Given the description of an element on the screen output the (x, y) to click on. 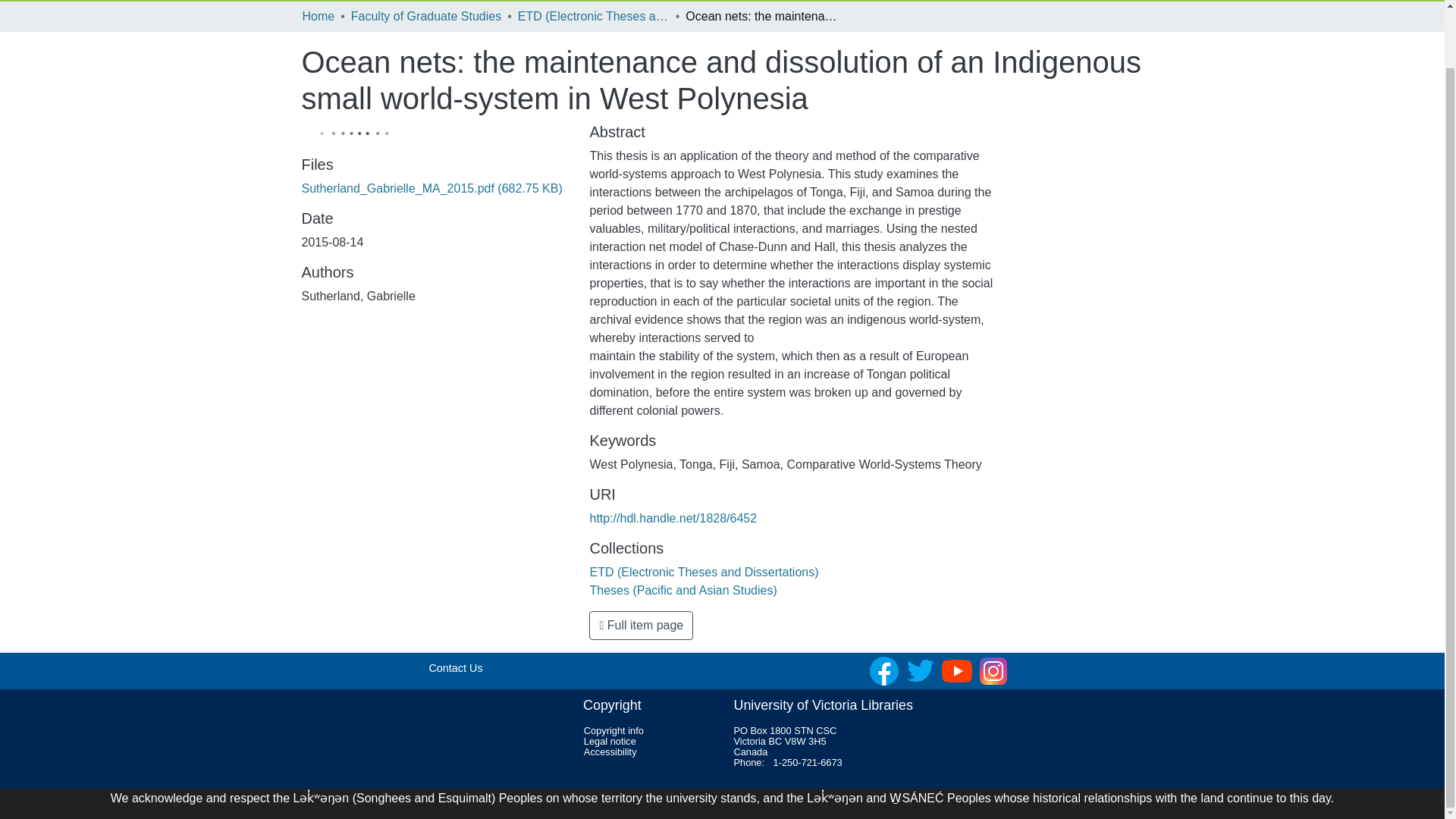
Faculty of Graduate Studies (425, 16)
Contact Us (454, 667)
Home (317, 16)
Full item page (641, 624)
